Given the description of an element on the screen output the (x, y) to click on. 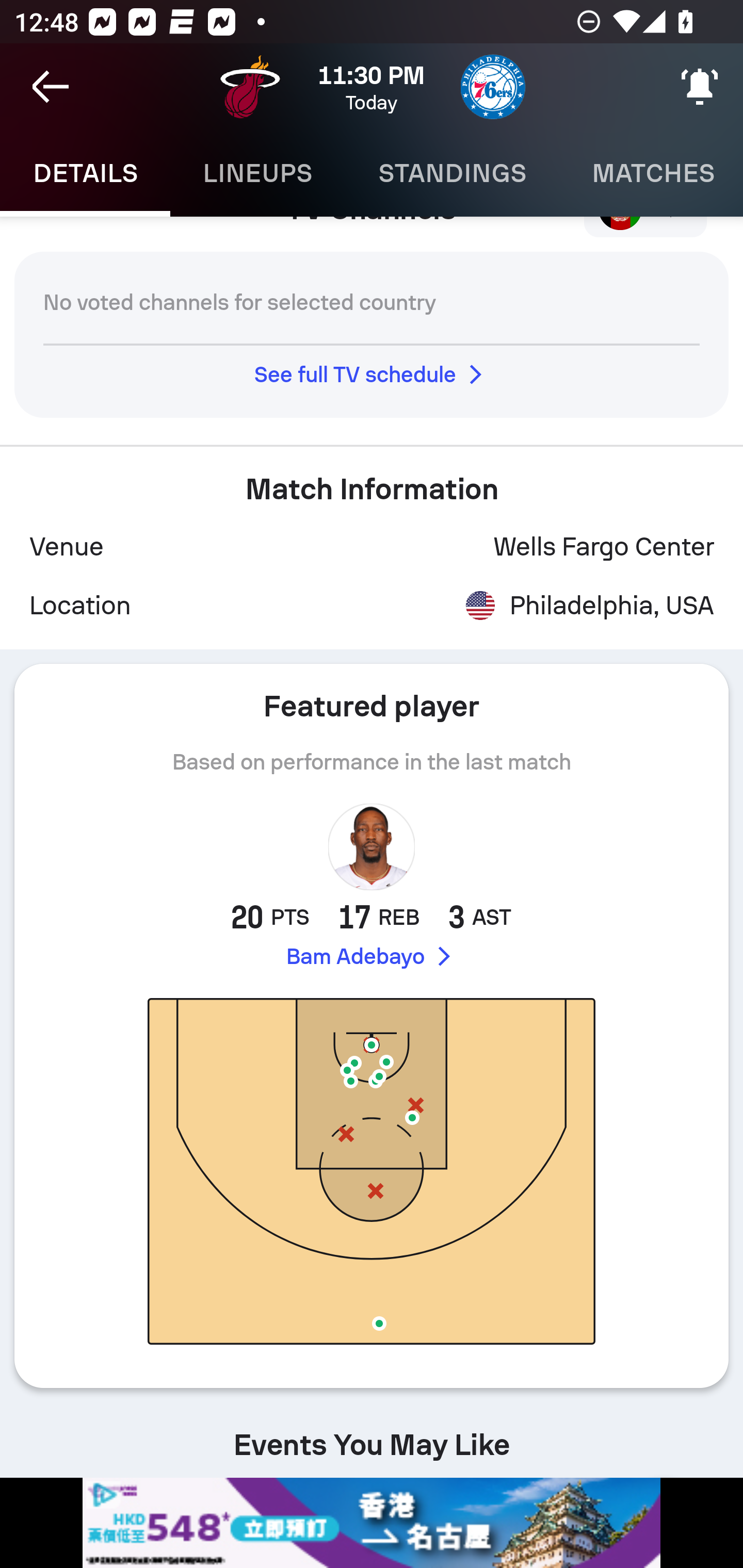
Navigate up (50, 86)
Lineups LINEUPS (257, 173)
Standings STANDINGS (451, 173)
Matches MATCHES (650, 173)
See full TV schedule (371, 373)
Events You May Like (371, 1436)
ysfecx5i_320x50 (371, 1522)
